Given the description of an element on the screen output the (x, y) to click on. 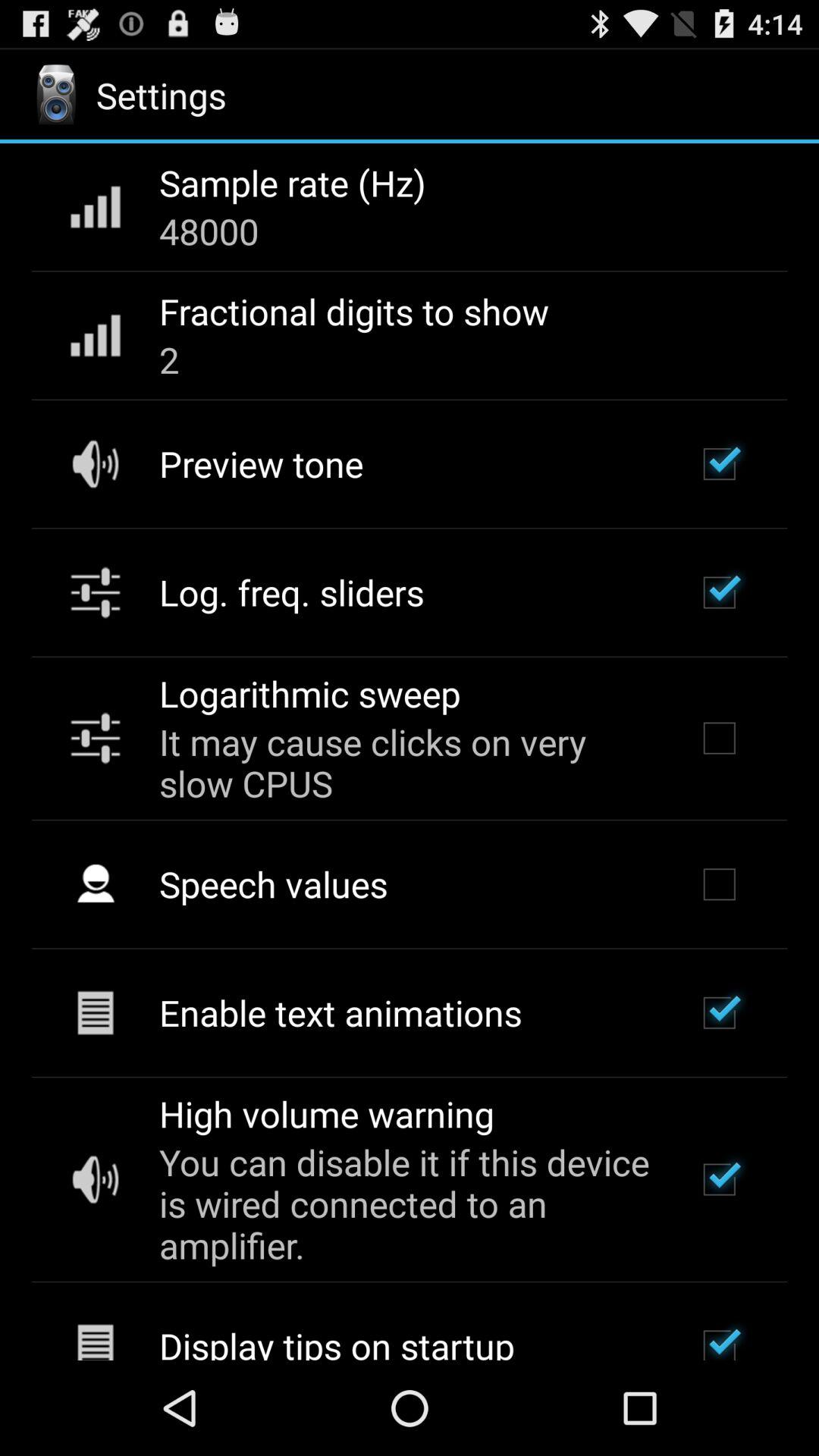
scroll to fractional digits to (353, 311)
